Given the description of an element on the screen output the (x, y) to click on. 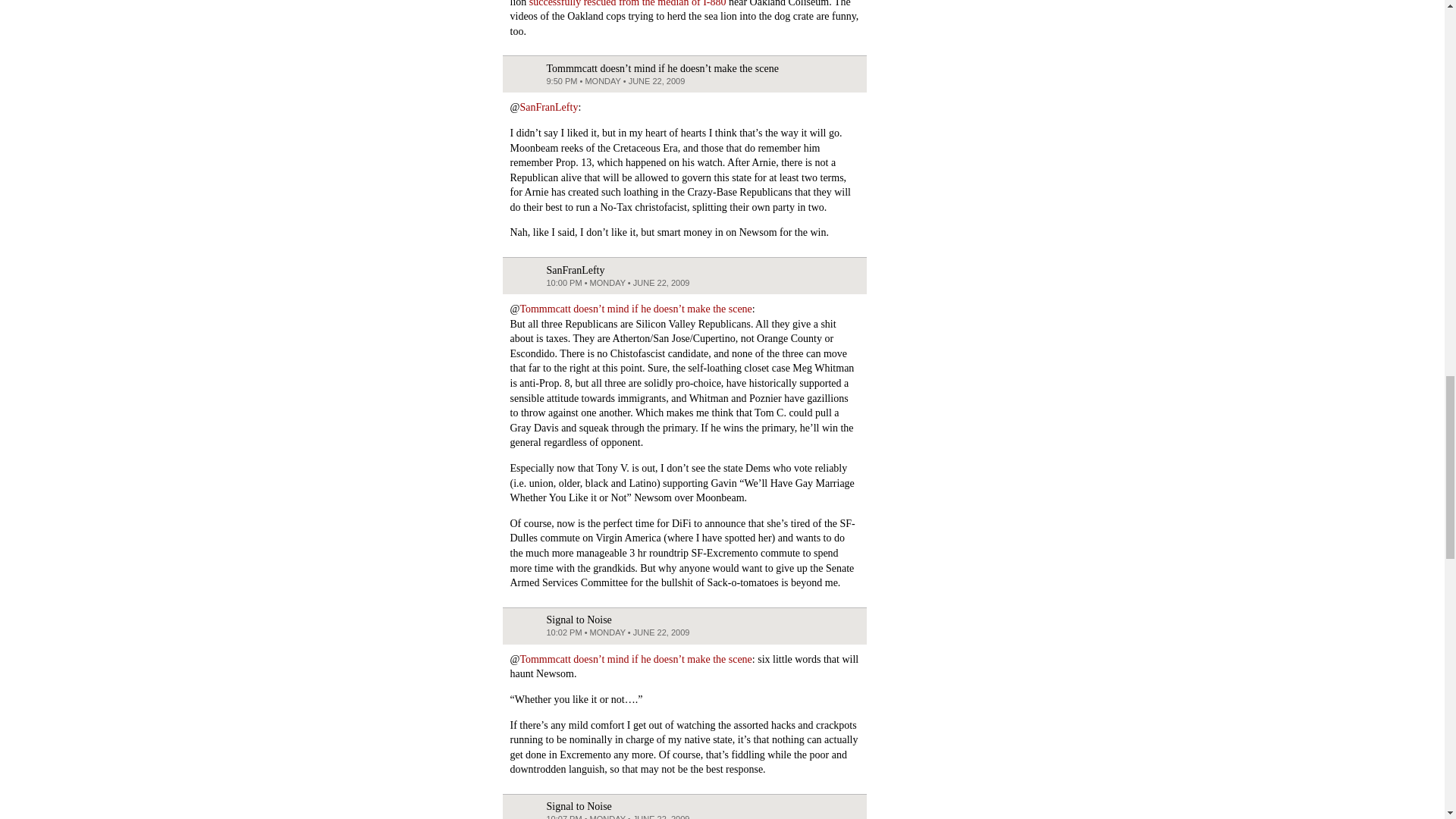
successfully rescued from the median of I-880 (627, 3)
SanFranLefty (548, 107)
